Given the description of an element on the screen output the (x, y) to click on. 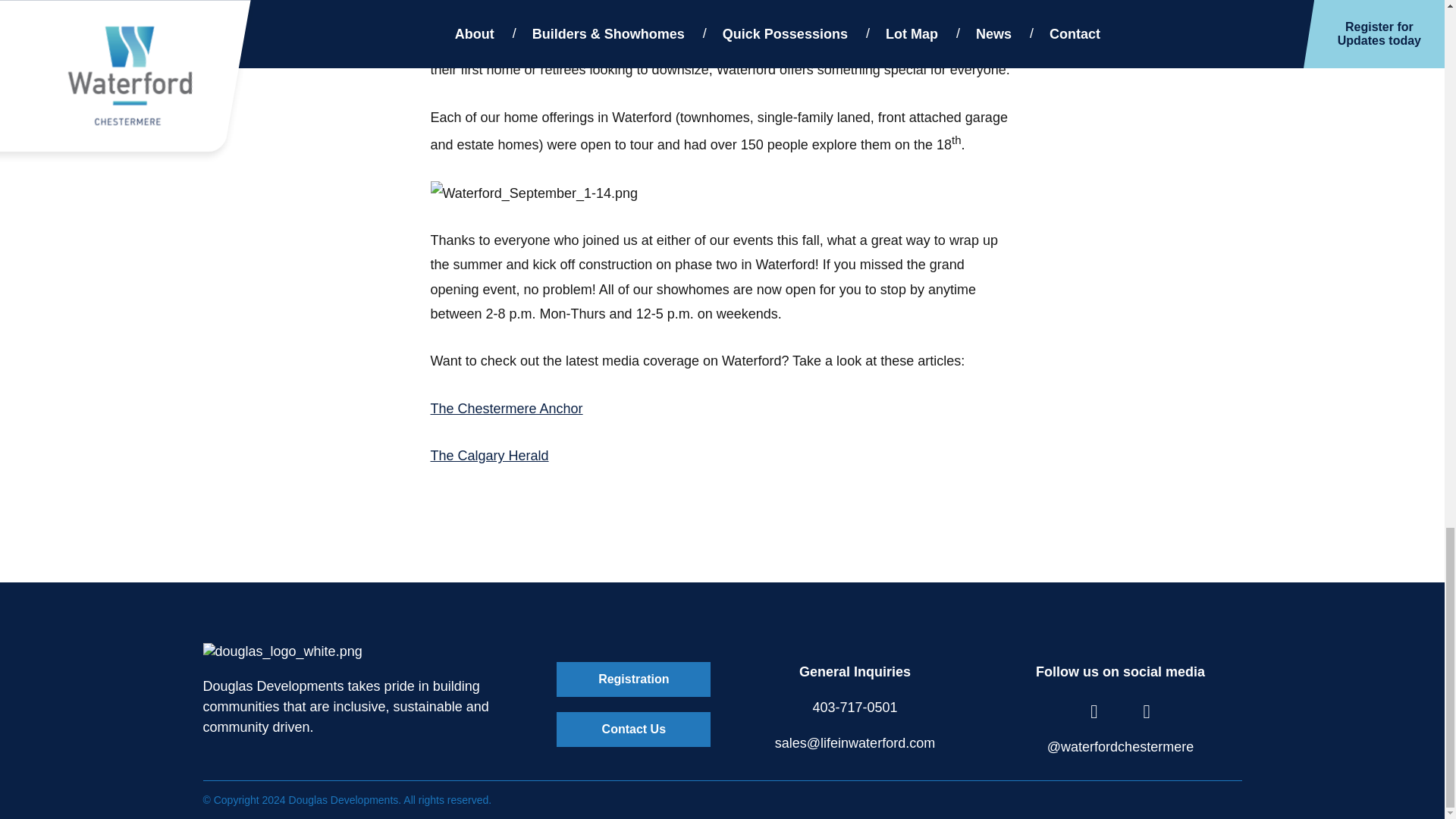
Contact Us (633, 728)
403-717-0501 (854, 707)
The Calgary Herald (489, 455)
Registration (633, 678)
here (584, 20)
The Chestermere Anchor (506, 408)
